Given the description of an element on the screen output the (x, y) to click on. 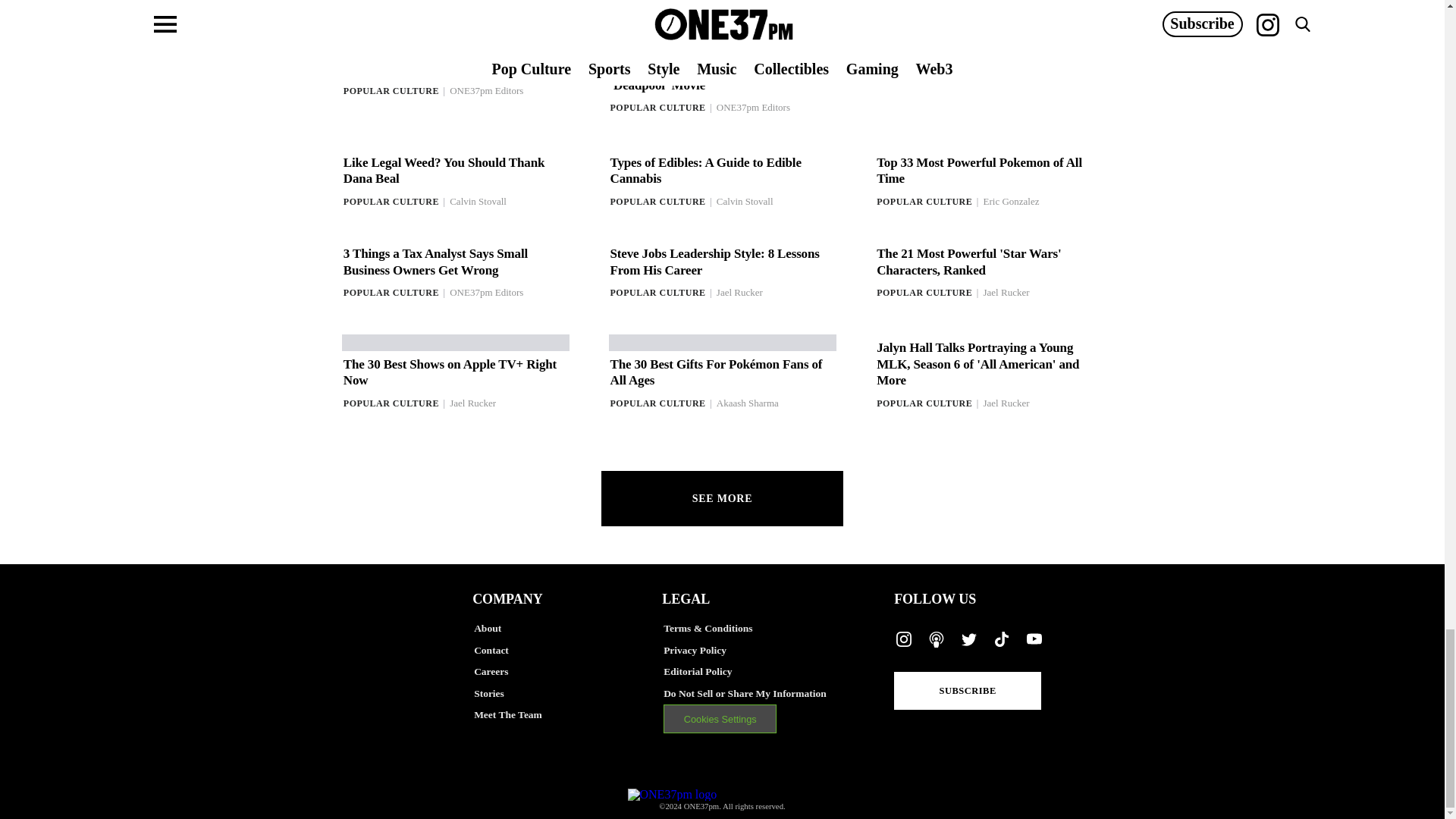
Careers (568, 671)
About (568, 628)
Stories (568, 694)
Contact (568, 650)
